Given the description of an element on the screen output the (x, y) to click on. 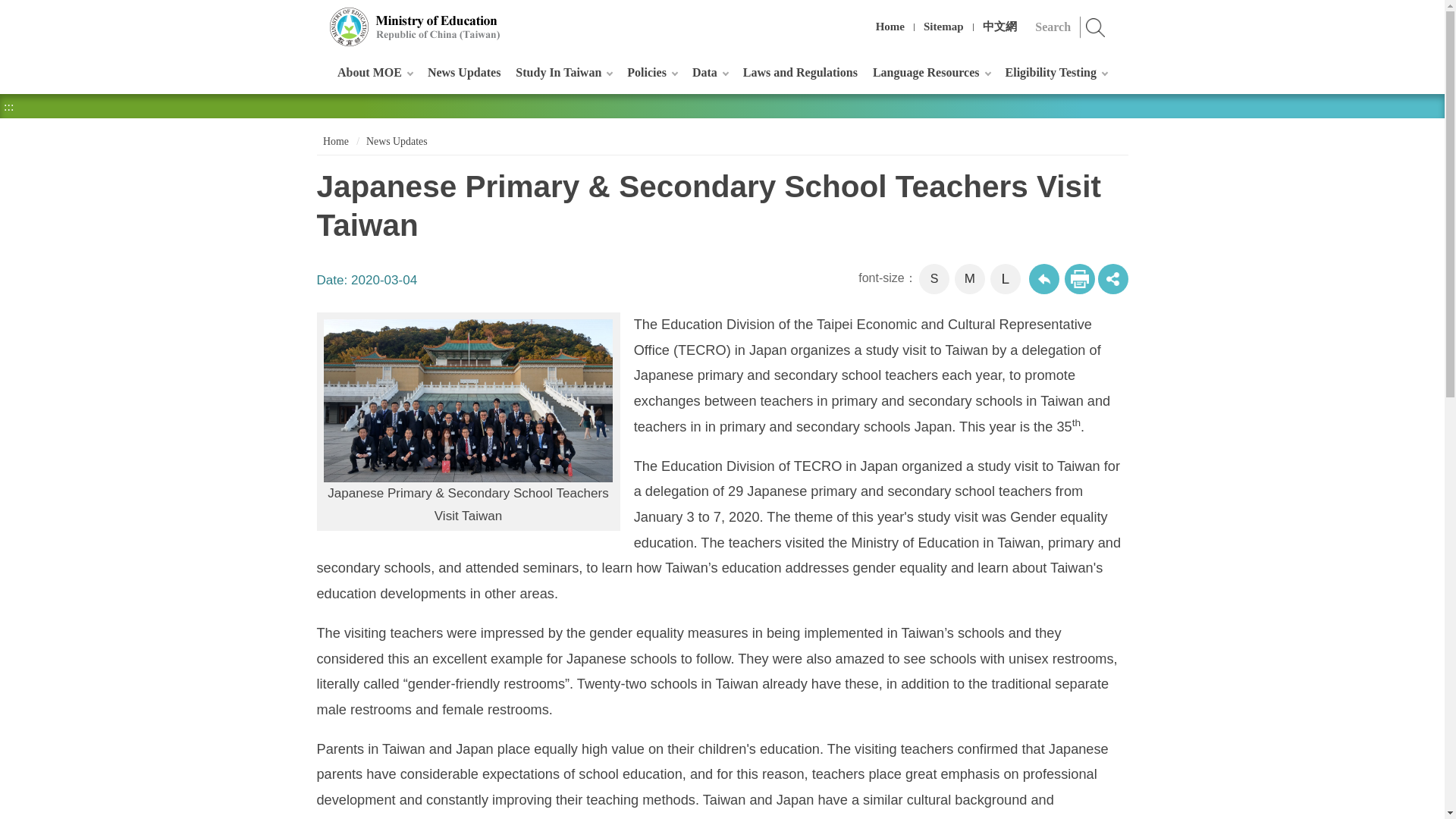
Home (890, 26)
About MOE (375, 72)
Sitemap (943, 26)
Study In Taiwan (563, 72)
About MOE (375, 72)
News Updates (464, 72)
Home (890, 26)
search (1096, 26)
Policies (651, 72)
Study In Taiwan (563, 72)
Laws and Regulations (799, 72)
search (1096, 26)
Sitemap (943, 26)
search (1096, 26)
Data (709, 72)
